Given the description of an element on the screen output the (x, y) to click on. 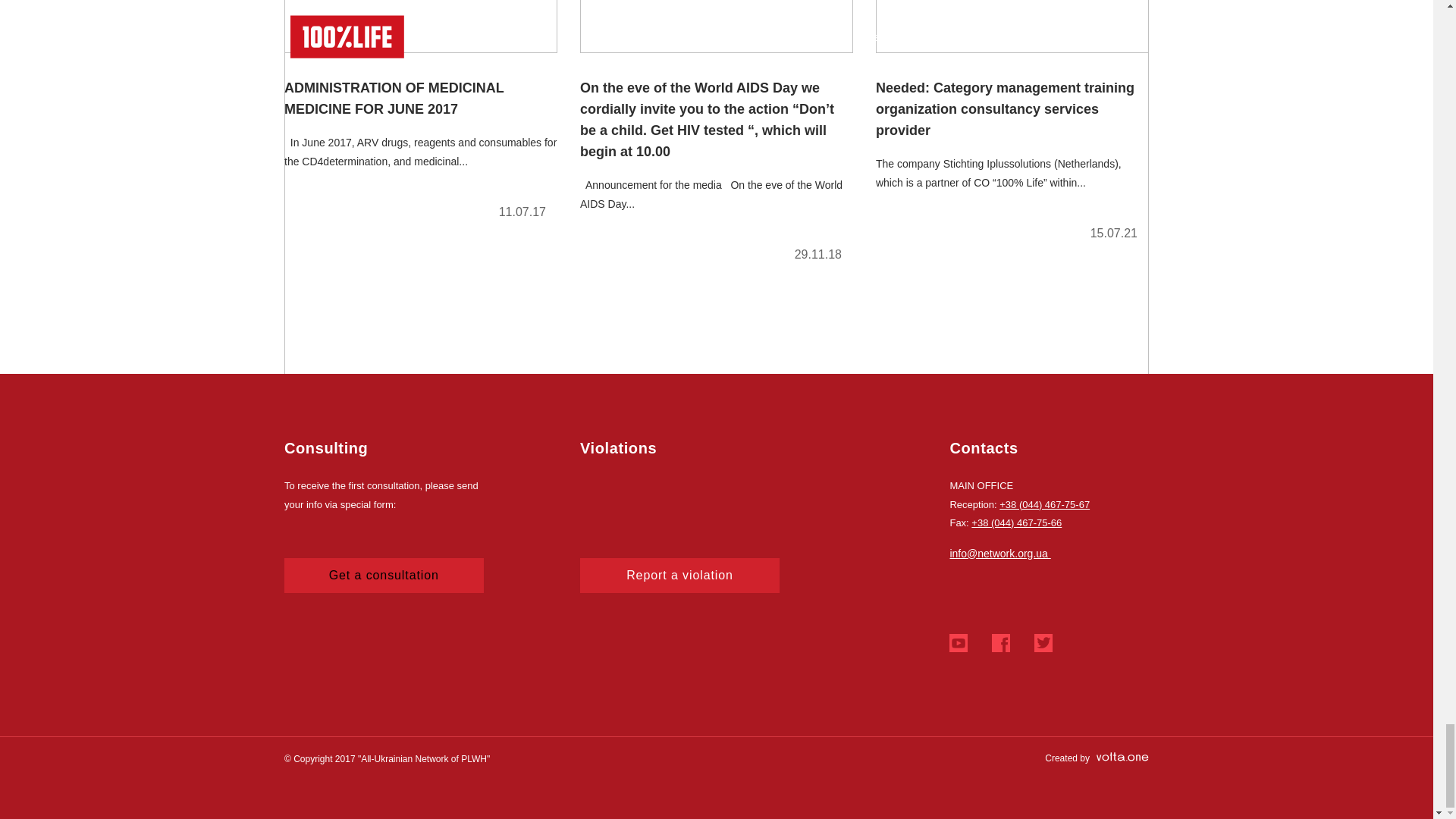
Get a consultation (383, 574)
Report a violation (678, 574)
ADMINISTRATION OF MEDICINAL MEDICINE FOR JUNE 2017 (420, 116)
Report a violation (678, 574)
Created by (1096, 757)
Get a consultation (383, 574)
